Given the description of an element on the screen output the (x, y) to click on. 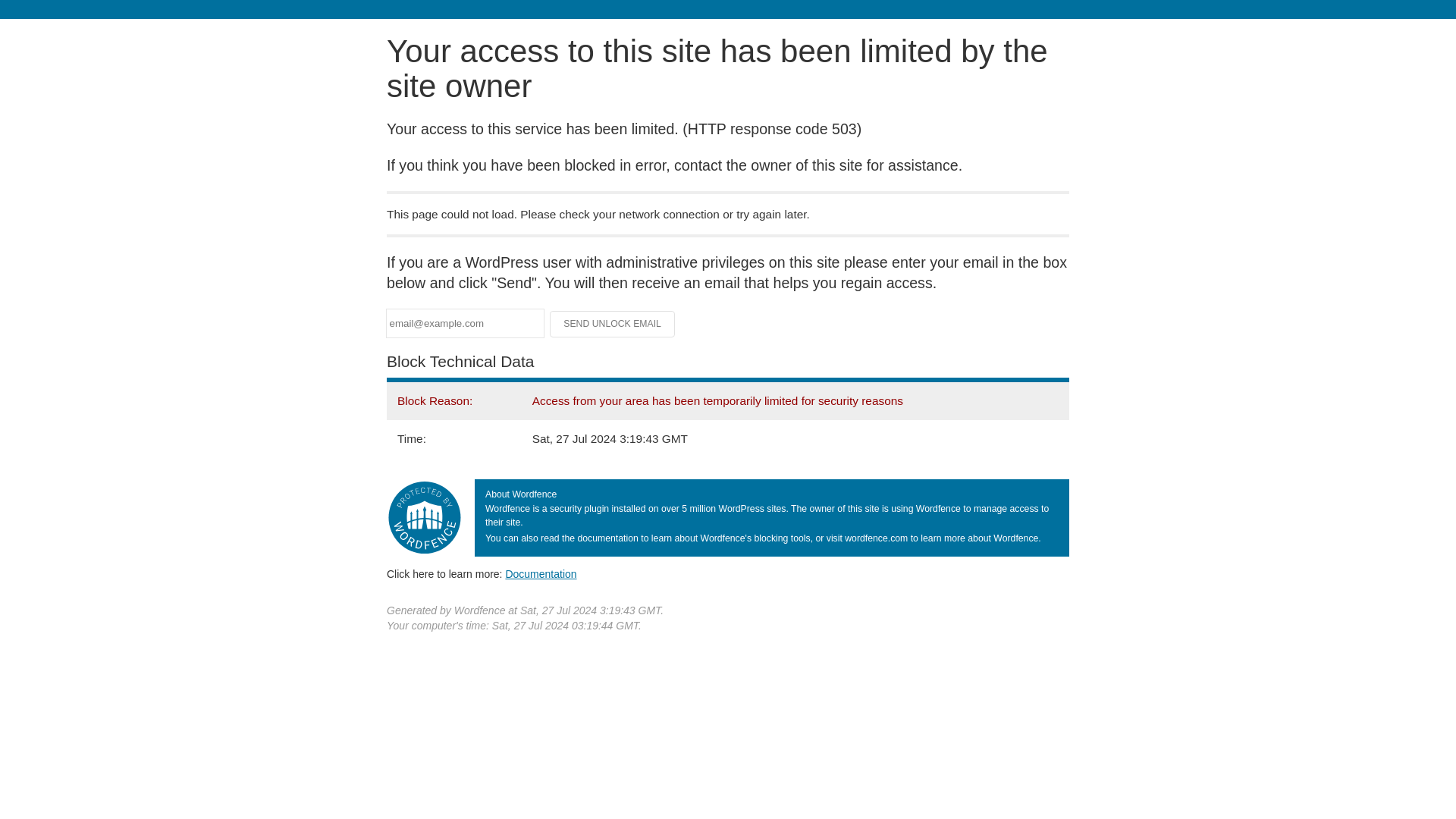
Send Unlock Email (612, 323)
Send Unlock Email (612, 323)
